Given the description of an element on the screen output the (x, y) to click on. 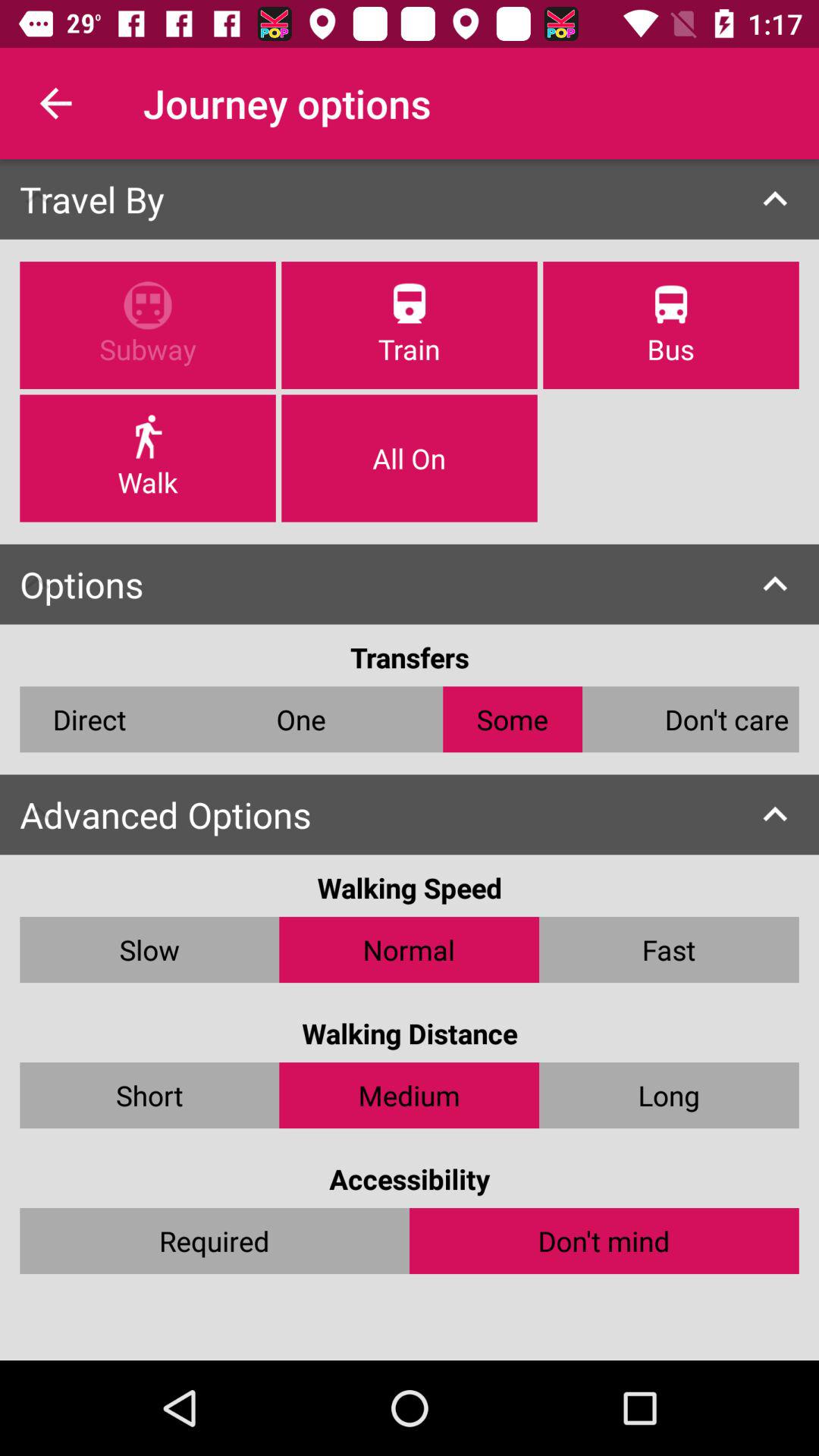
press item next to the don't mind icon (214, 1241)
